Given the description of an element on the screen output the (x, y) to click on. 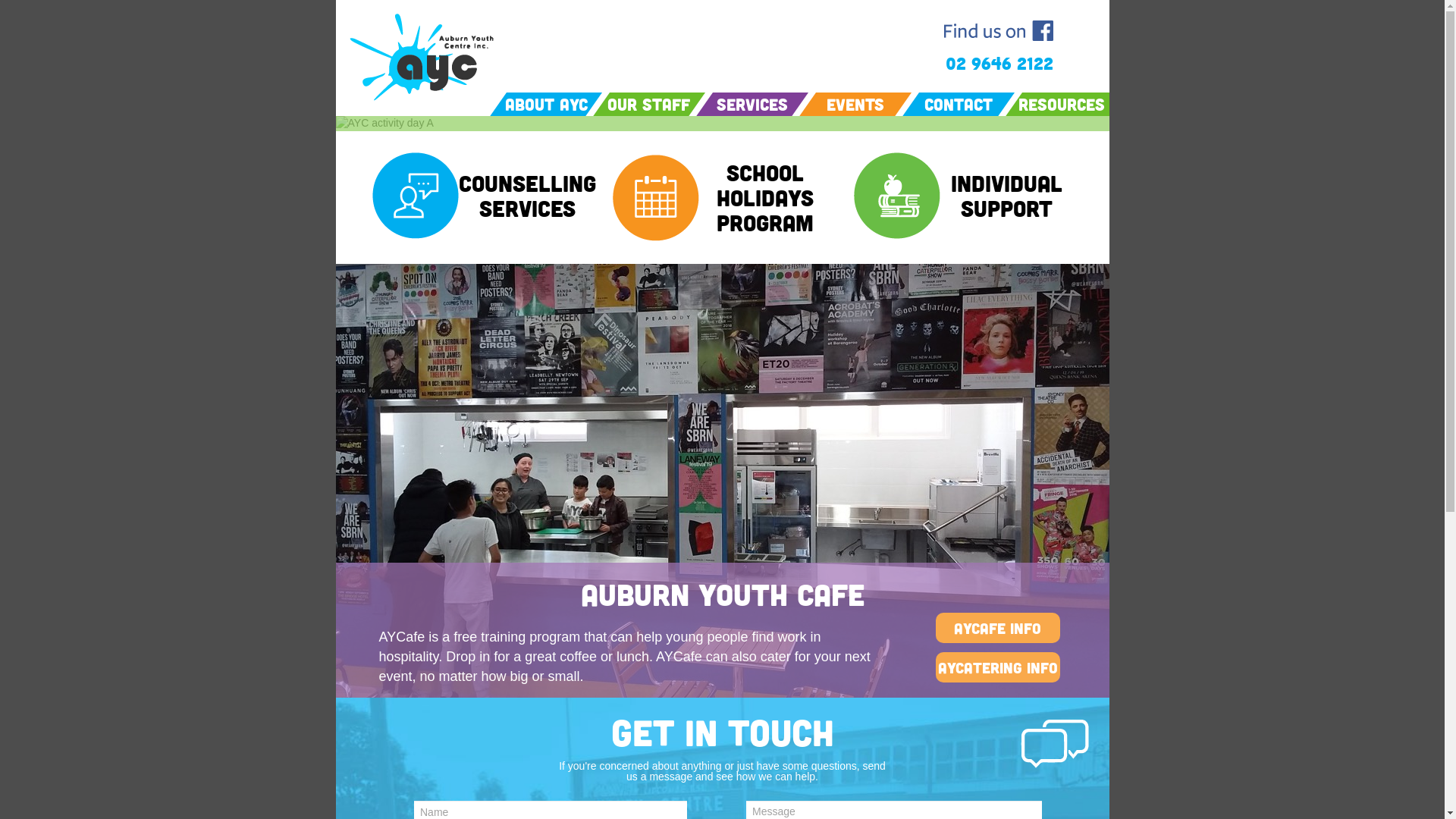
Services Element type: text (752, 104)
AYCafe Info Element type: text (997, 627)
Resources Element type: text (1060, 104)
Counselling Services Element type: text (526, 195)
Contact Element type: text (958, 104)
Events Element type: text (855, 104)
Individual Support Element type: text (1006, 195)
Our Staff Element type: text (648, 104)
School Holidays Program Element type: text (765, 197)
About AYC Element type: text (545, 104)
AYCatering Info Element type: text (997, 667)
